Given the description of an element on the screen output the (x, y) to click on. 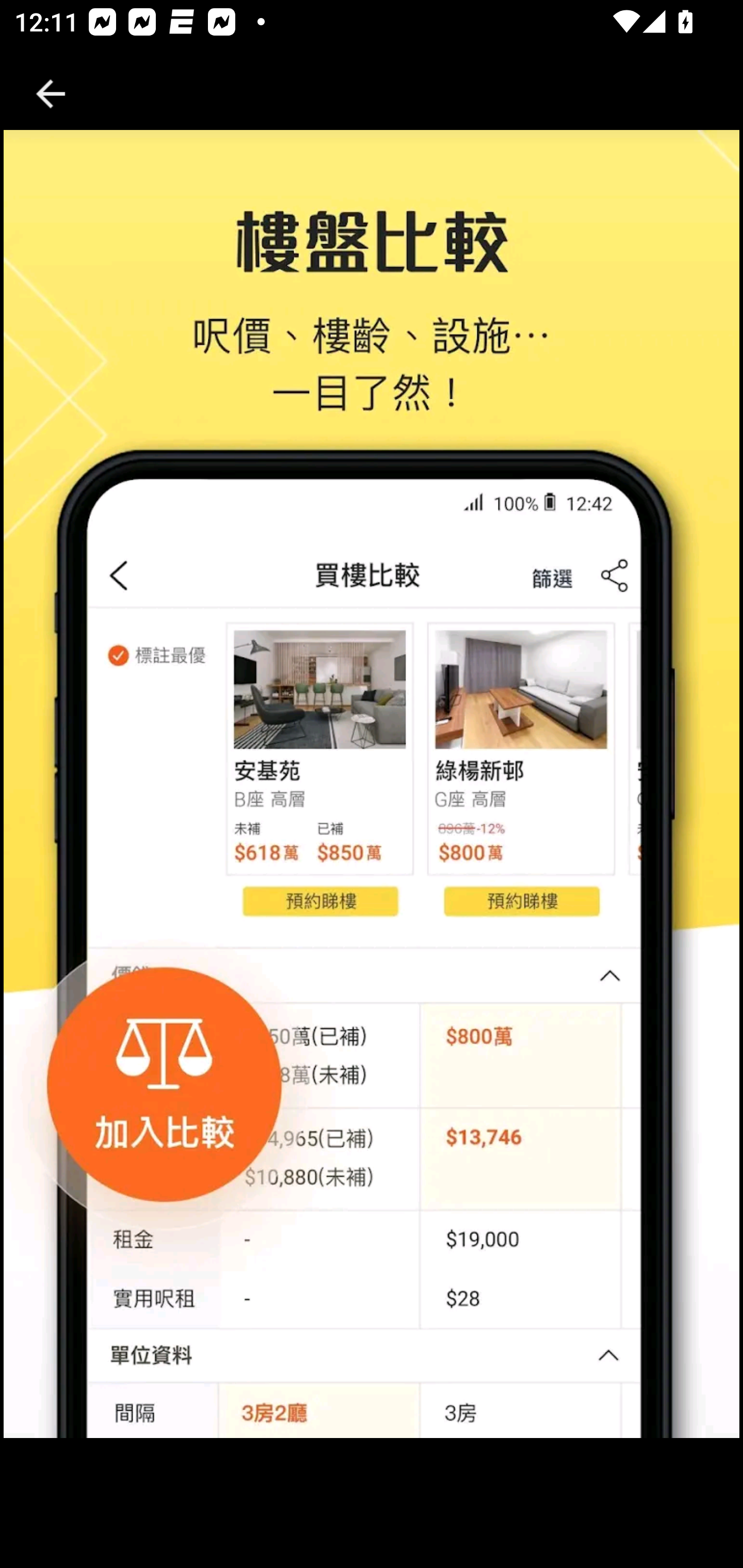
Back (50, 93)
